Given the description of an element on the screen output the (x, y) to click on. 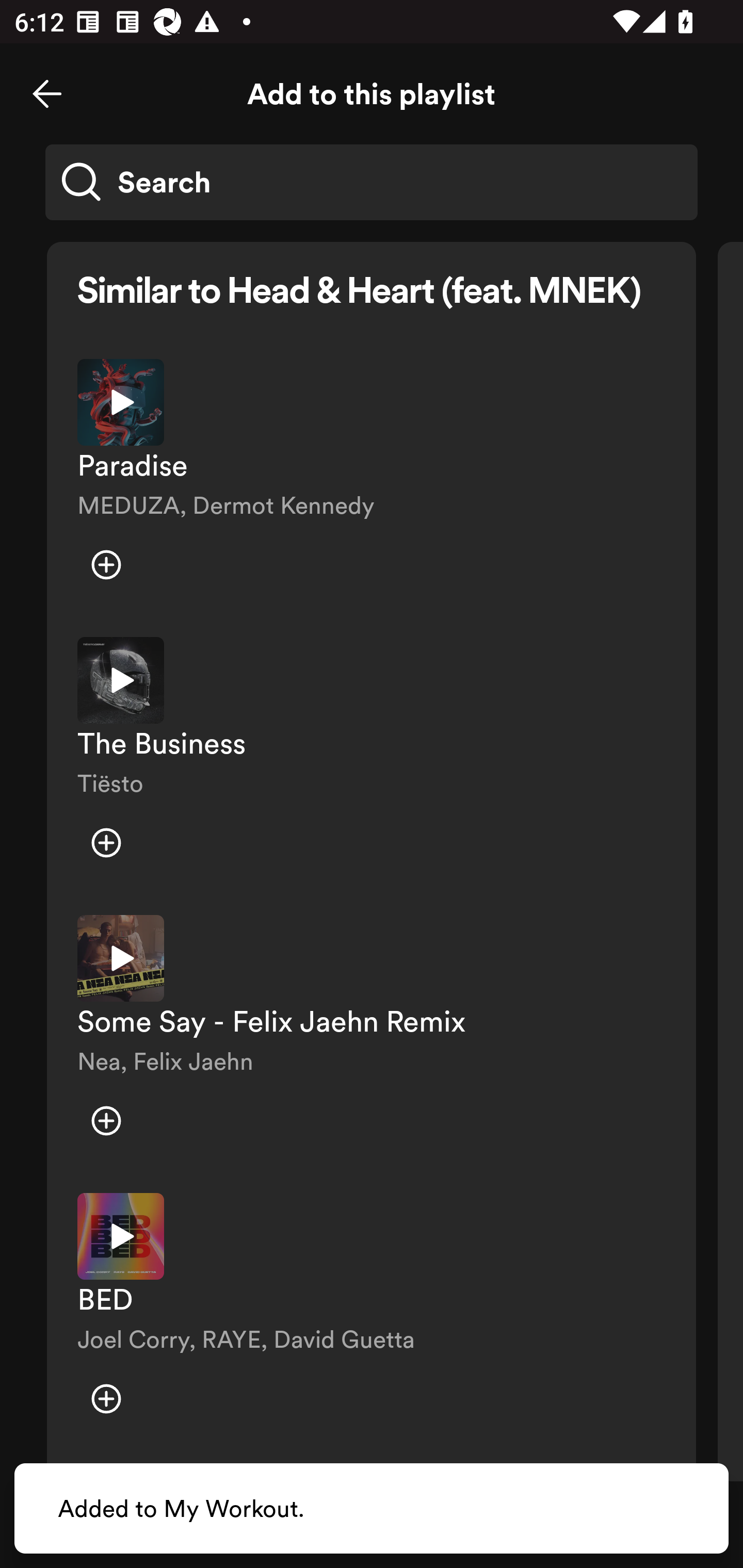
Close (46, 93)
Search (371, 181)
Play preview (120, 402)
Add item (106, 565)
Play preview The Business Tiësto Add item (371, 761)
Play preview (120, 680)
Add item (106, 842)
Play preview (120, 958)
Add item (106, 1120)
Play preview (120, 1236)
Add item (106, 1398)
